Given the description of an element on the screen output the (x, y) to click on. 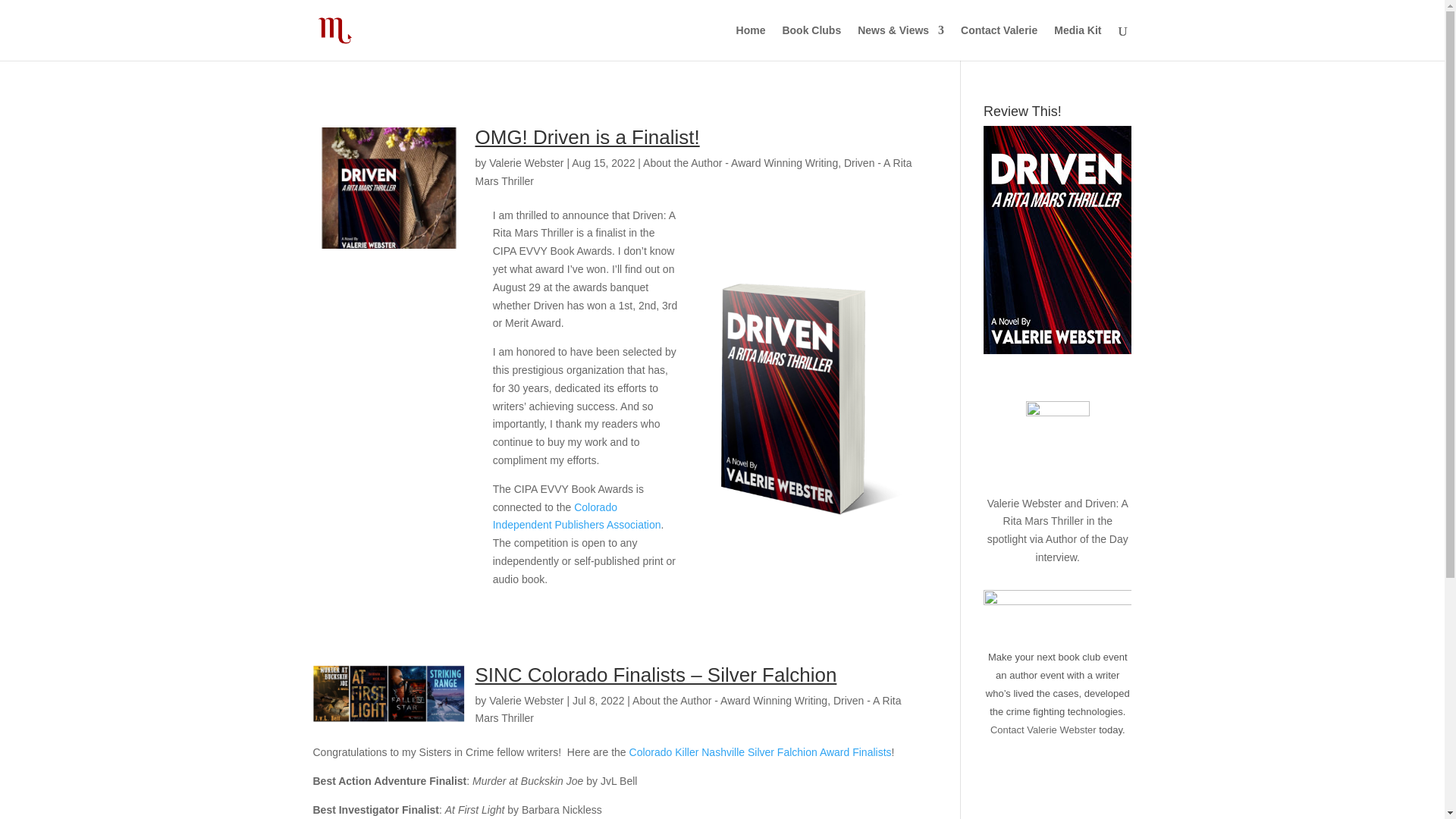
Colorado Independent Publishers Association (577, 516)
Contact Valerie (998, 42)
Book Clubs (811, 42)
About the Author - Award Winning Writing (740, 162)
Valerie Webster (526, 700)
Posts by Valerie Webster (526, 700)
Media Kit (1077, 42)
Contact Valerie Webster (1043, 729)
Posts by Valerie Webster (526, 162)
Driven - A Rita Mars Thriller (692, 172)
Colorado Killer Nashville Silver Falchion Award Finalists (759, 752)
OMG! Driven is a Finalist! (586, 137)
Driven - A Rita Mars Thriller (687, 709)
About the Author - Award Winning Writing (729, 700)
Valerie Webster (526, 162)
